Given the description of an element on the screen output the (x, y) to click on. 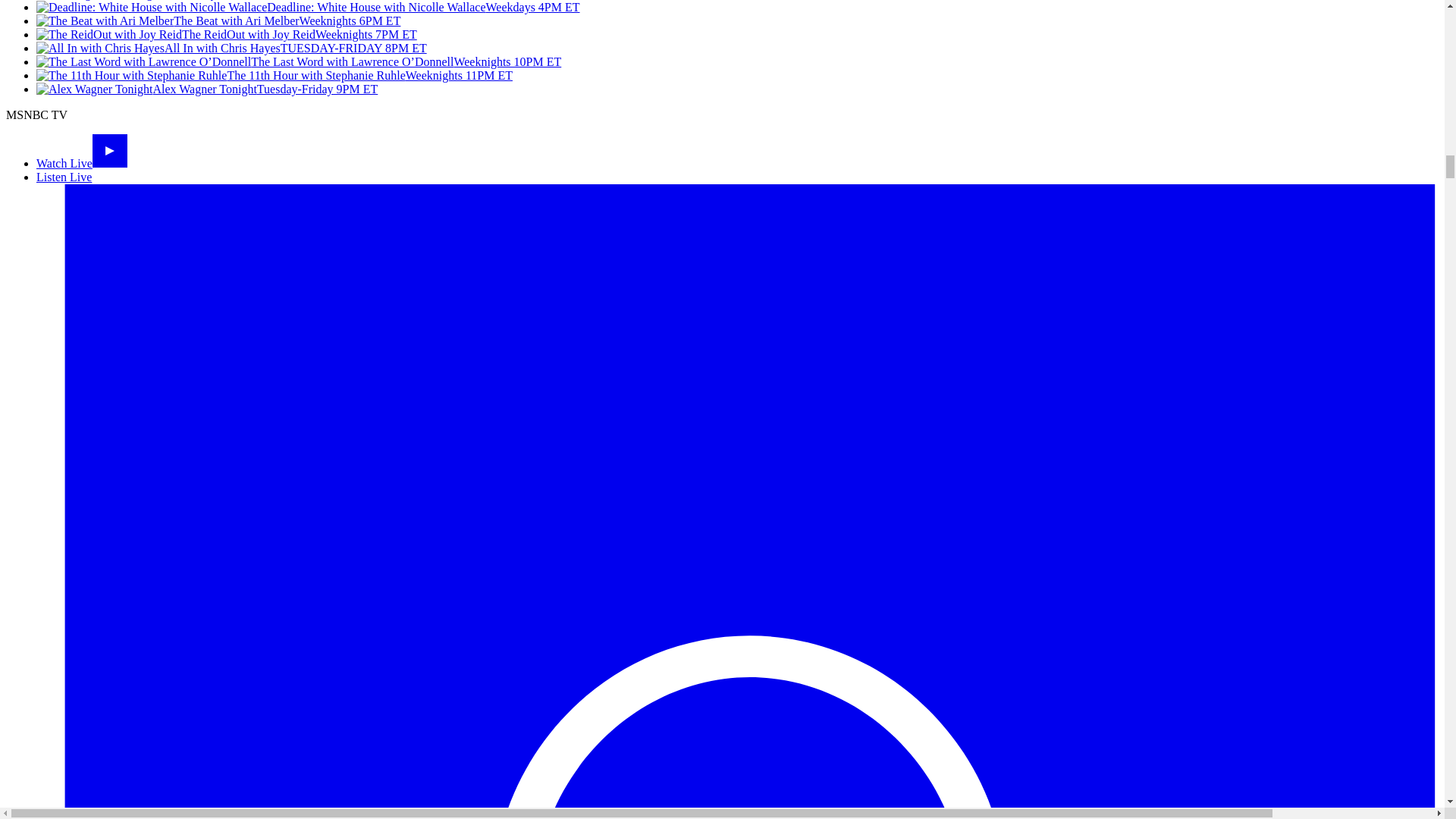
All In with Chris HayesTUESDAY-FRIDAY 8PM ET (231, 47)
Watch Live (82, 163)
The 11th Hour with Stephanie RuhleWeeknights 11PM ET (274, 74)
Alex Wagner TonightTuesday-Friday 9PM ET (206, 88)
Deadline: White House with Nicolle WallaceWeekdays 4PM ET (307, 6)
The ReidOut with Joy ReidWeeknights 7PM ET (226, 33)
The Beat with Ari MelberWeeknights 6PM ET (218, 20)
